Given the description of an element on the screen output the (x, y) to click on. 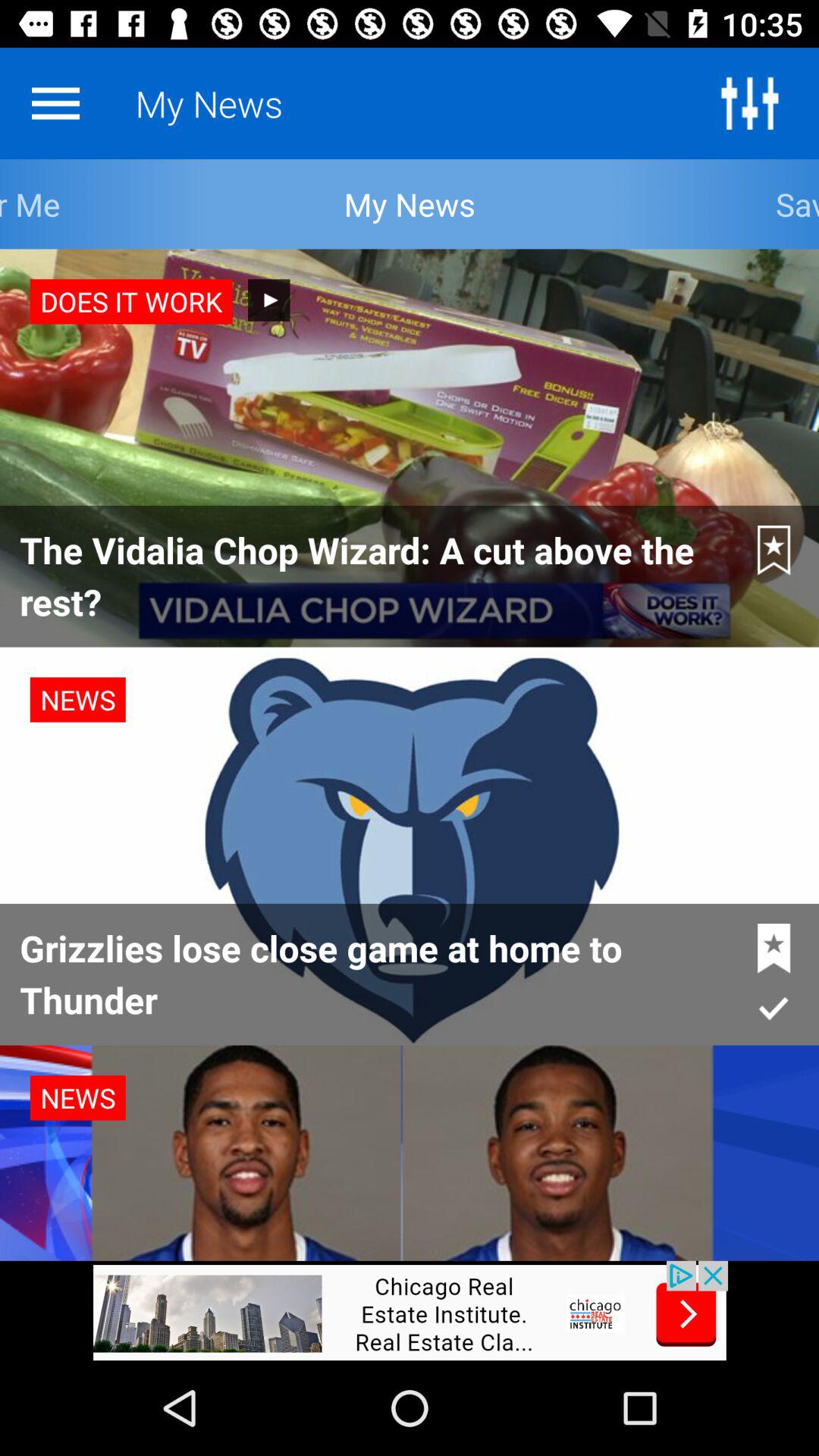
select play button beside does it work (268, 300)
select the tick mark below star on the page (773, 1007)
click on the star icon which is beside game at home to thunder (774, 948)
